Given the description of an element on the screen output the (x, y) to click on. 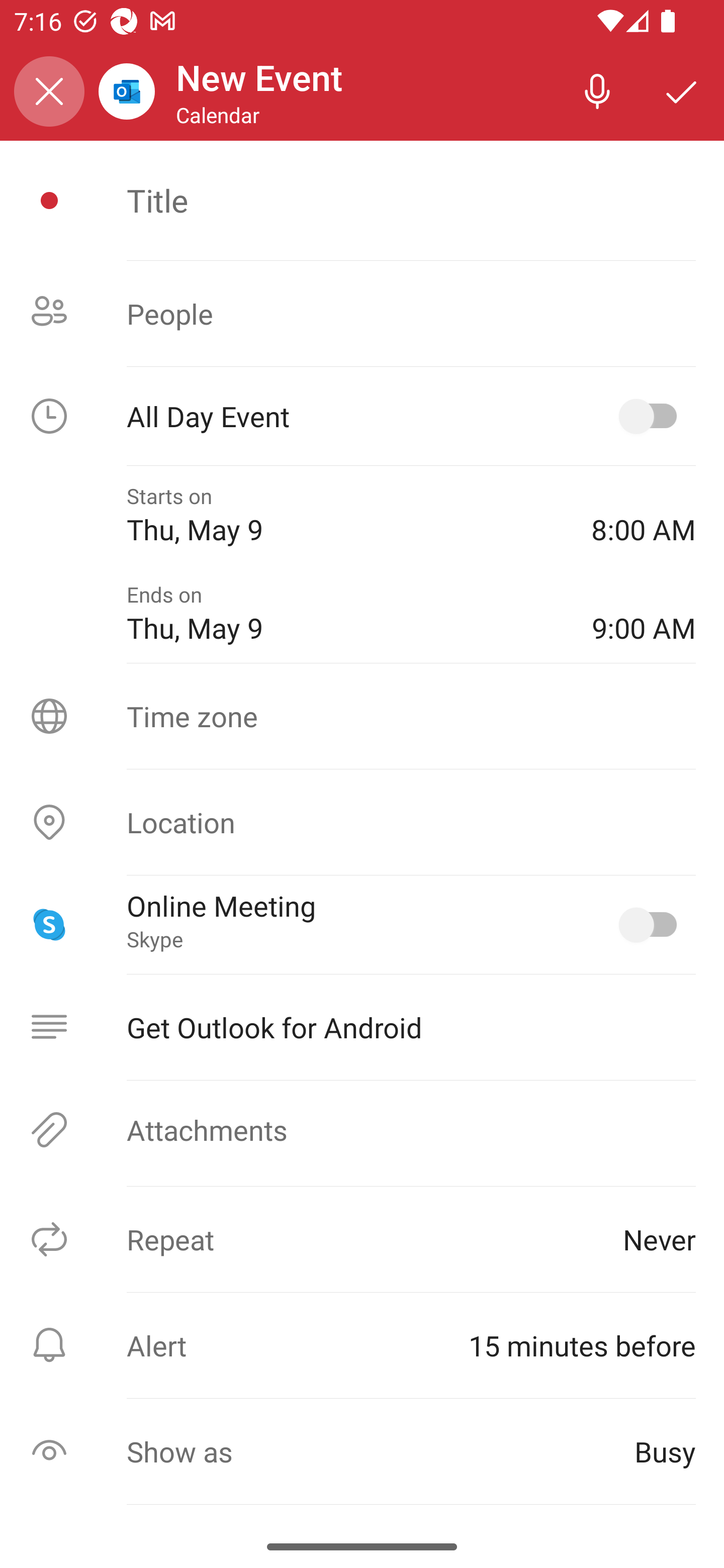
Close (49, 91)
Save (681, 90)
Title (410, 200)
Event icon picker (48, 200)
People (362, 313)
All Day Event (362, 415)
Starts on Thu, May 9 (344, 514)
8:00 AM (643, 514)
Ends on Thu, May 9 (344, 613)
9:00 AM (643, 613)
Time zone (362, 715)
Location (362, 821)
Online Meeting, Skype selected (651, 923)
Attachments (362, 1129)
Repeat Never (362, 1239)
Alert ⁨15 minutes before (362, 1345)
Show as Busy (362, 1450)
